Given the description of an element on the screen output the (x, y) to click on. 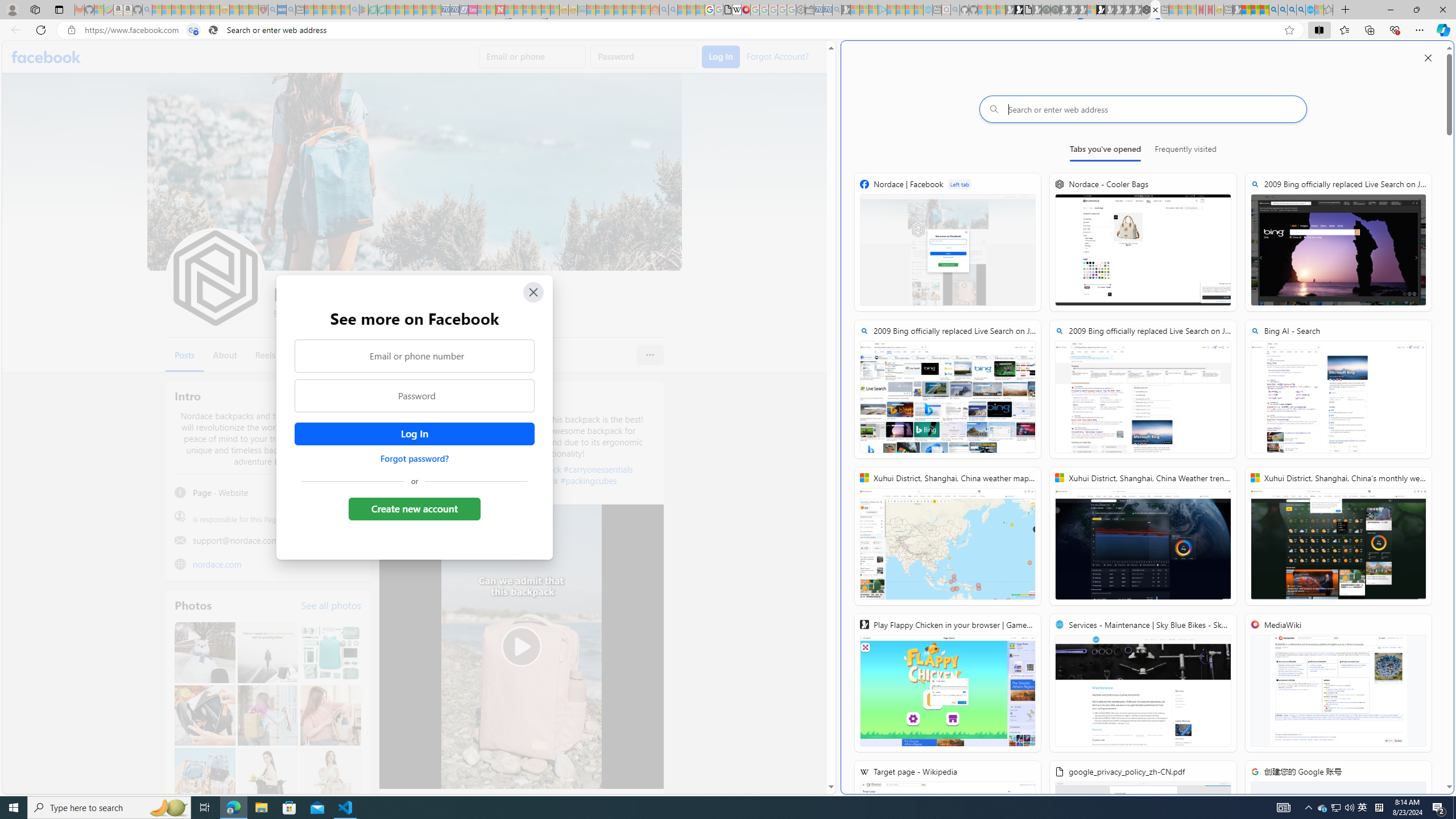
Nordace | Facebook (947, 242)
Utah sues federal government - Search - Sleeping (672, 9)
Latest Politics News & Archive | Newsweek.com - Sleeping (499, 9)
Search or enter web address (1143, 108)
Local - MSN - Sleeping (253, 9)
Recipes - MSN - Sleeping (234, 9)
